Given the description of an element on the screen output the (x, y) to click on. 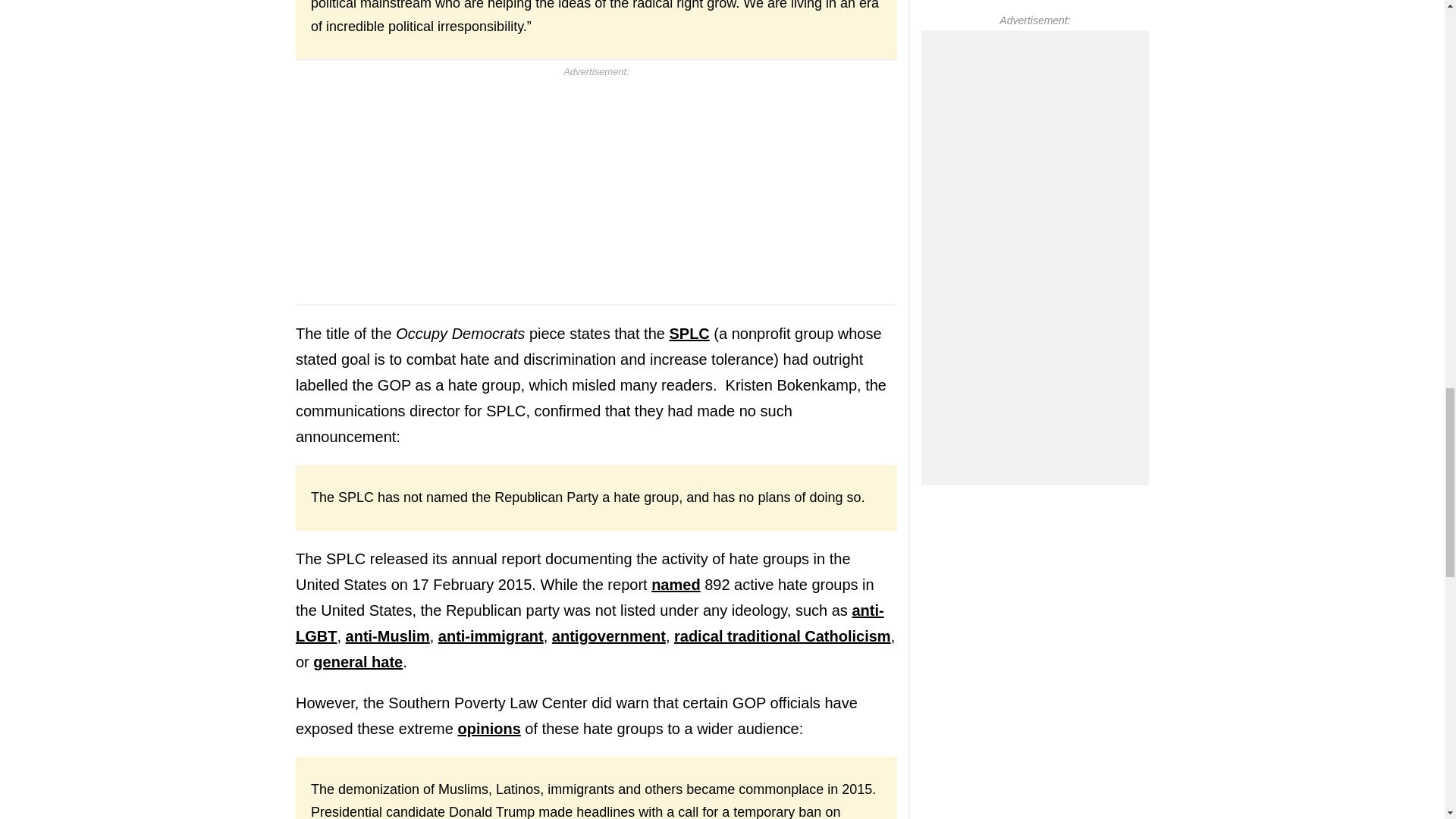
SPLC (688, 333)
